Given the description of an element on the screen output the (x, y) to click on. 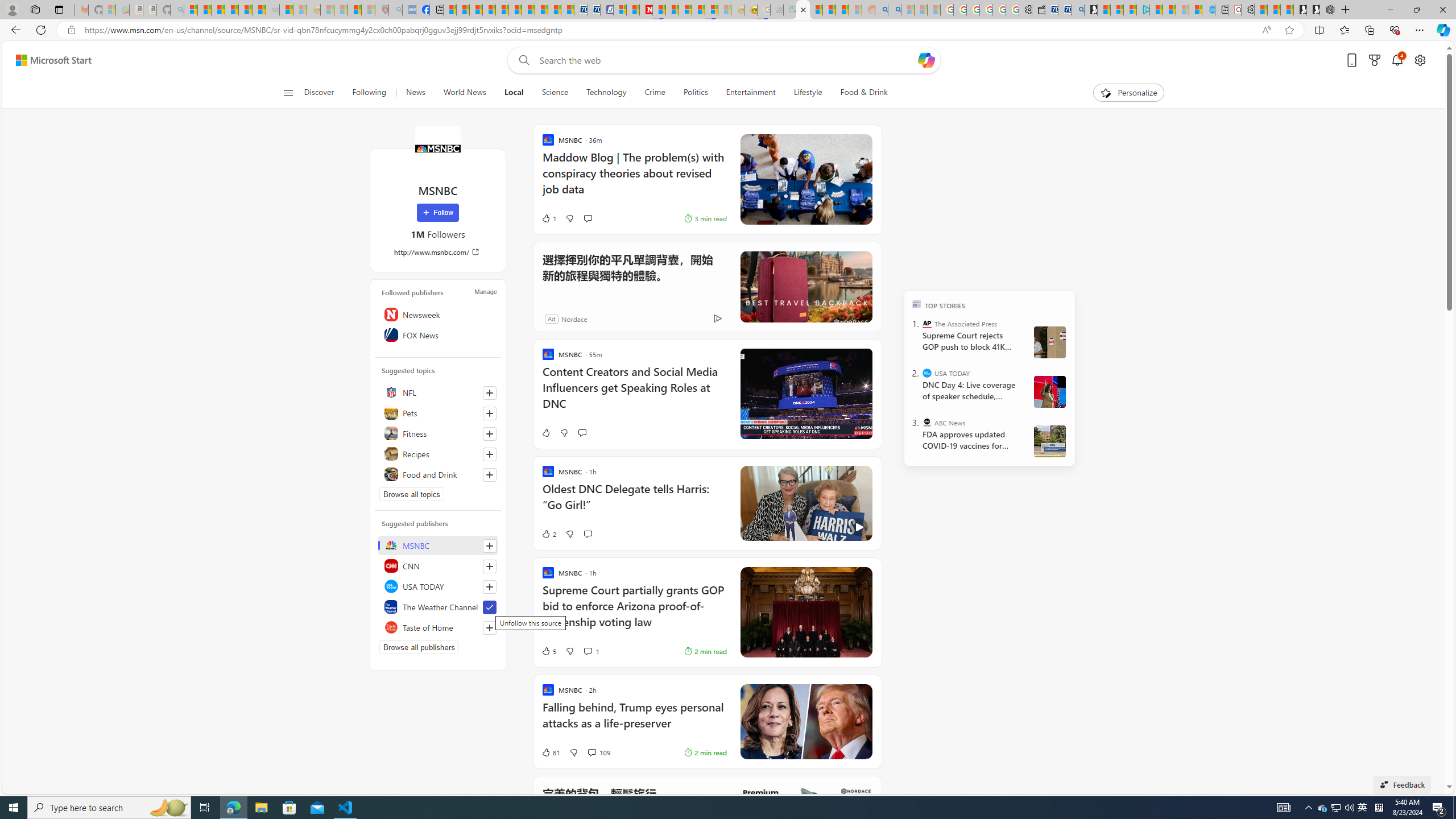
1 Like (547, 218)
http://www.msnbc.com/ (438, 251)
FOX News (437, 334)
